Given the description of an element on the screen output the (x, y) to click on. 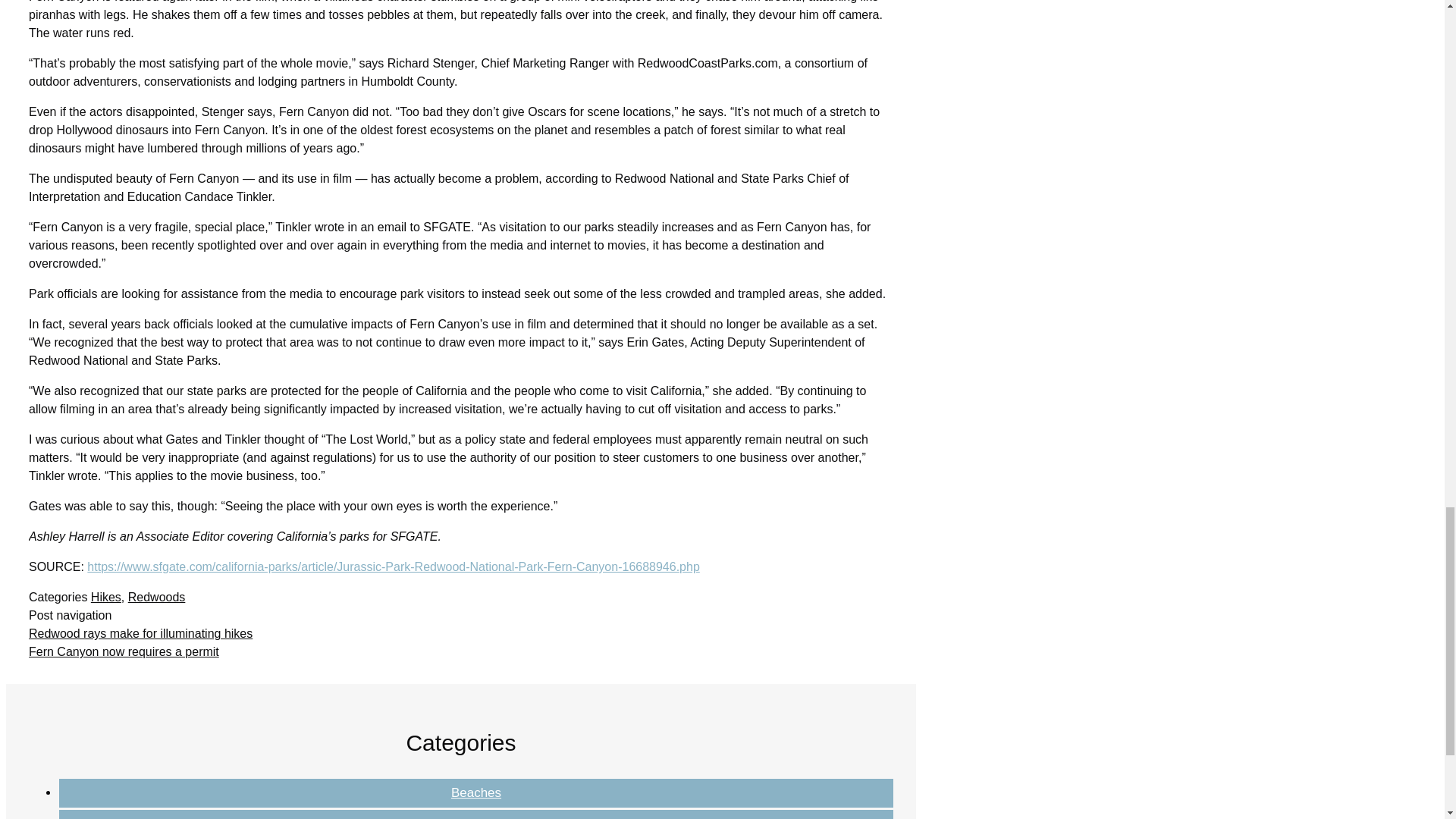
Fern Canyon now requires a permit (124, 651)
Hikes (105, 596)
Beaches (475, 792)
Hikes (476, 817)
Next (124, 651)
Redwoods (157, 596)
Redwood rays make for illuminating hikes (140, 633)
Previous (140, 633)
